Given the description of an element on the screen output the (x, y) to click on. 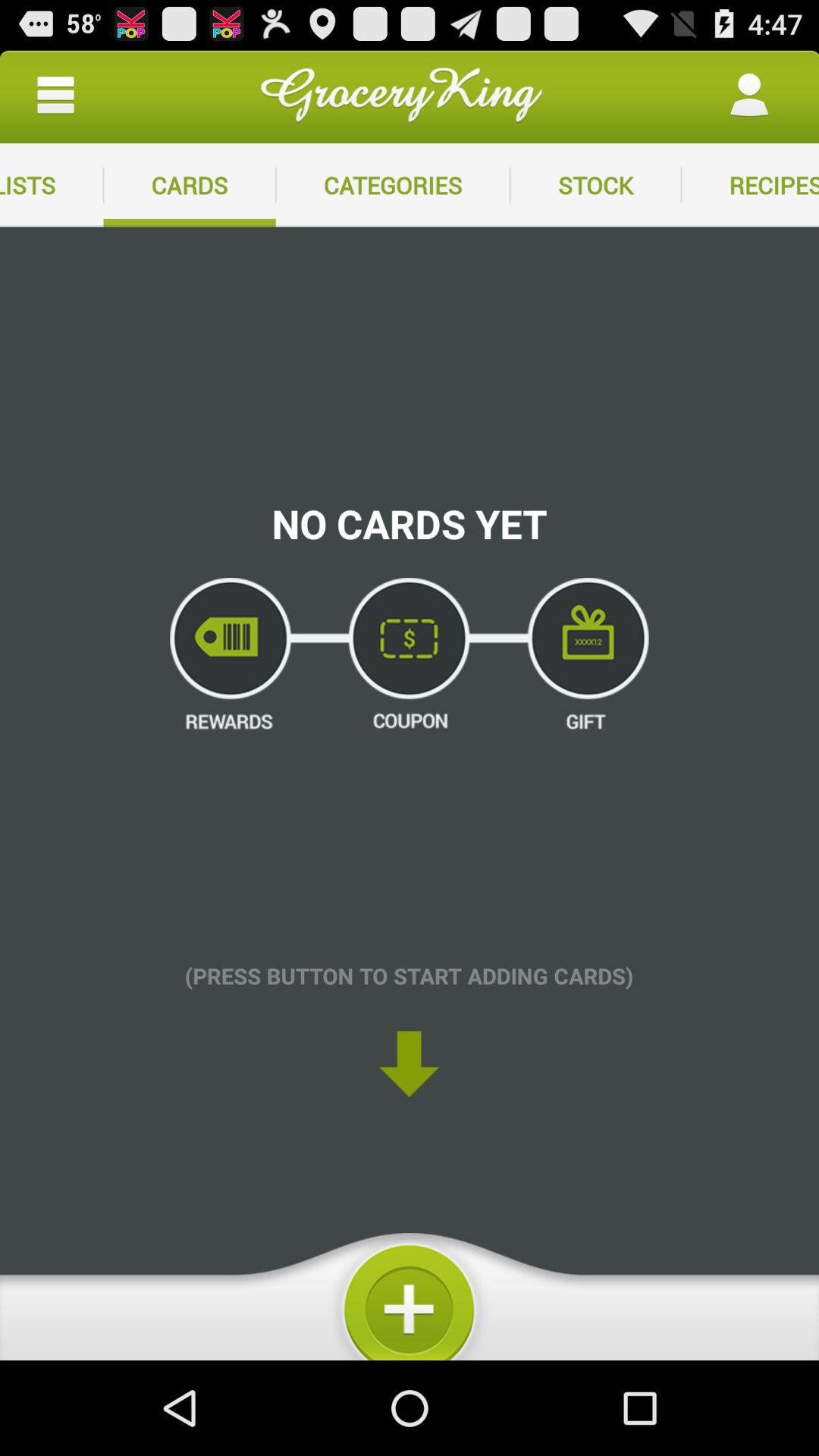
turn off the app to the left of recipes (595, 184)
